Given the description of an element on the screen output the (x, y) to click on. 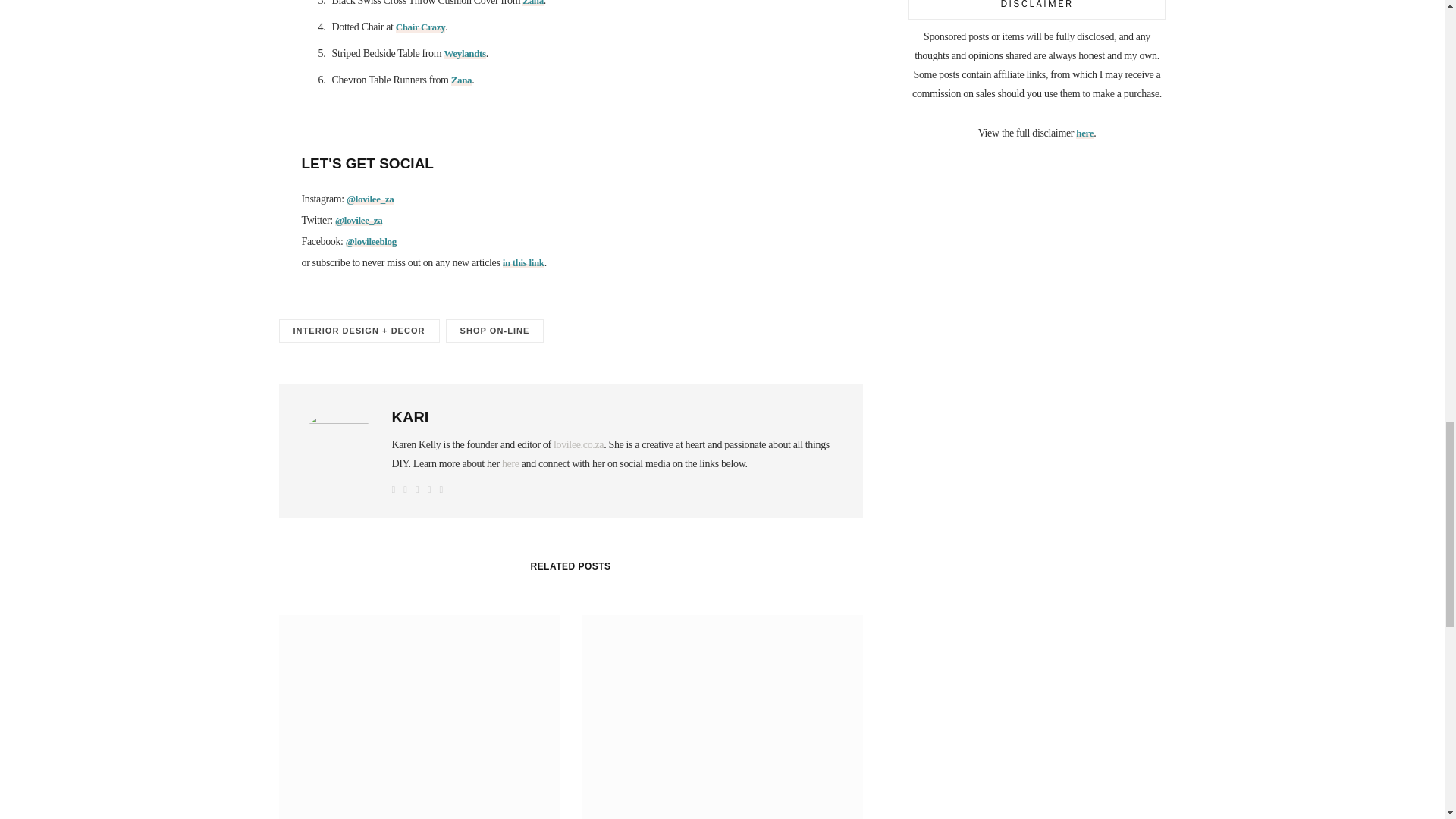
Posts by Kari (409, 416)
Chair Crazy (420, 26)
Zana (532, 2)
